Given the description of an element on the screen output the (x, y) to click on. 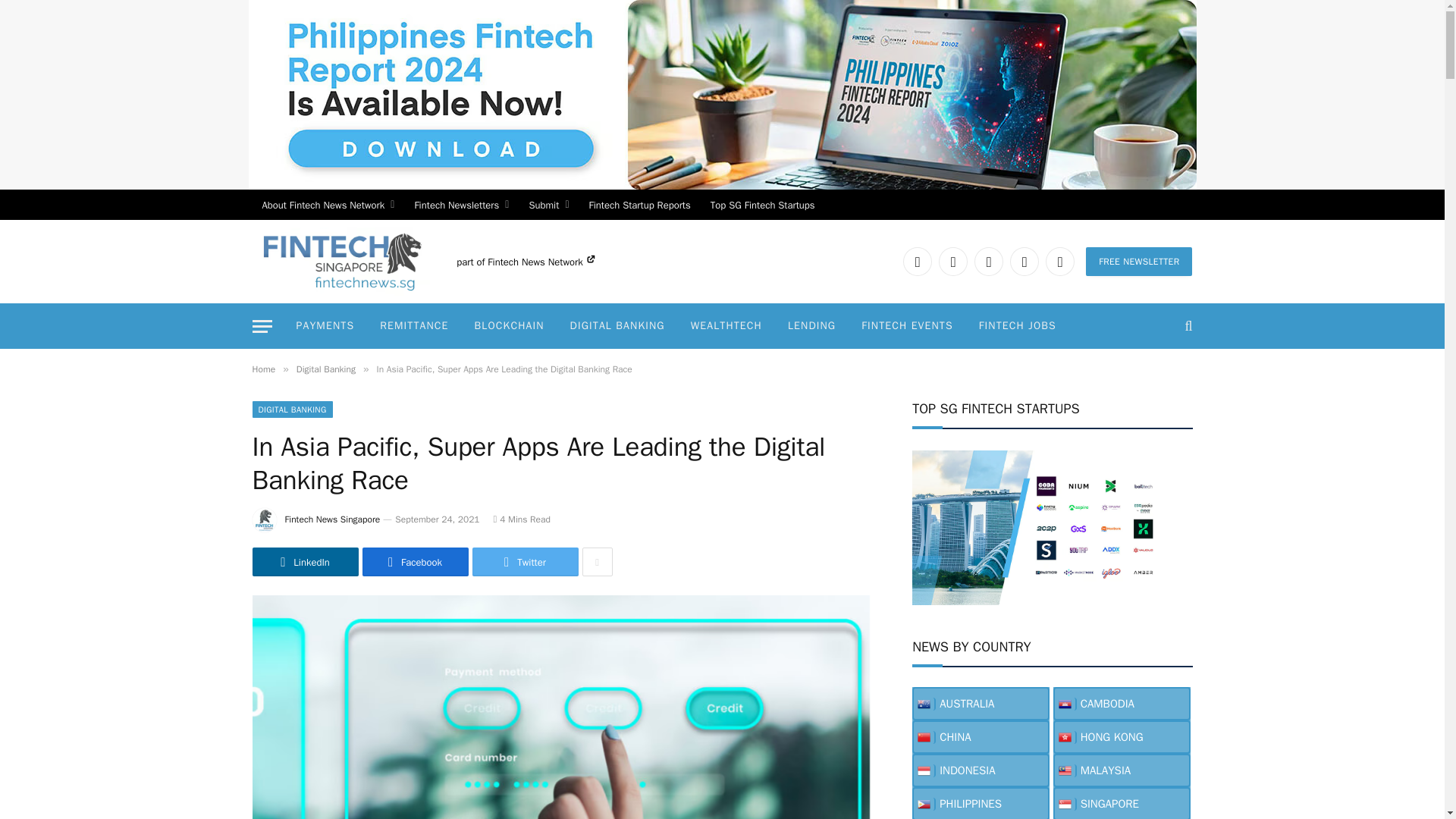
Fintech Singapore (340, 261)
Show More Social Sharing (597, 561)
Fintech Startup Reports (639, 204)
Top SG Fintech Startups (762, 204)
Posts by Fintech News Singapore (332, 519)
Fintech Newsletters (461, 204)
About Fintech News Network (327, 204)
Submit (548, 204)
Share on LinkedIn (304, 561)
